Given the description of an element on the screen output the (x, y) to click on. 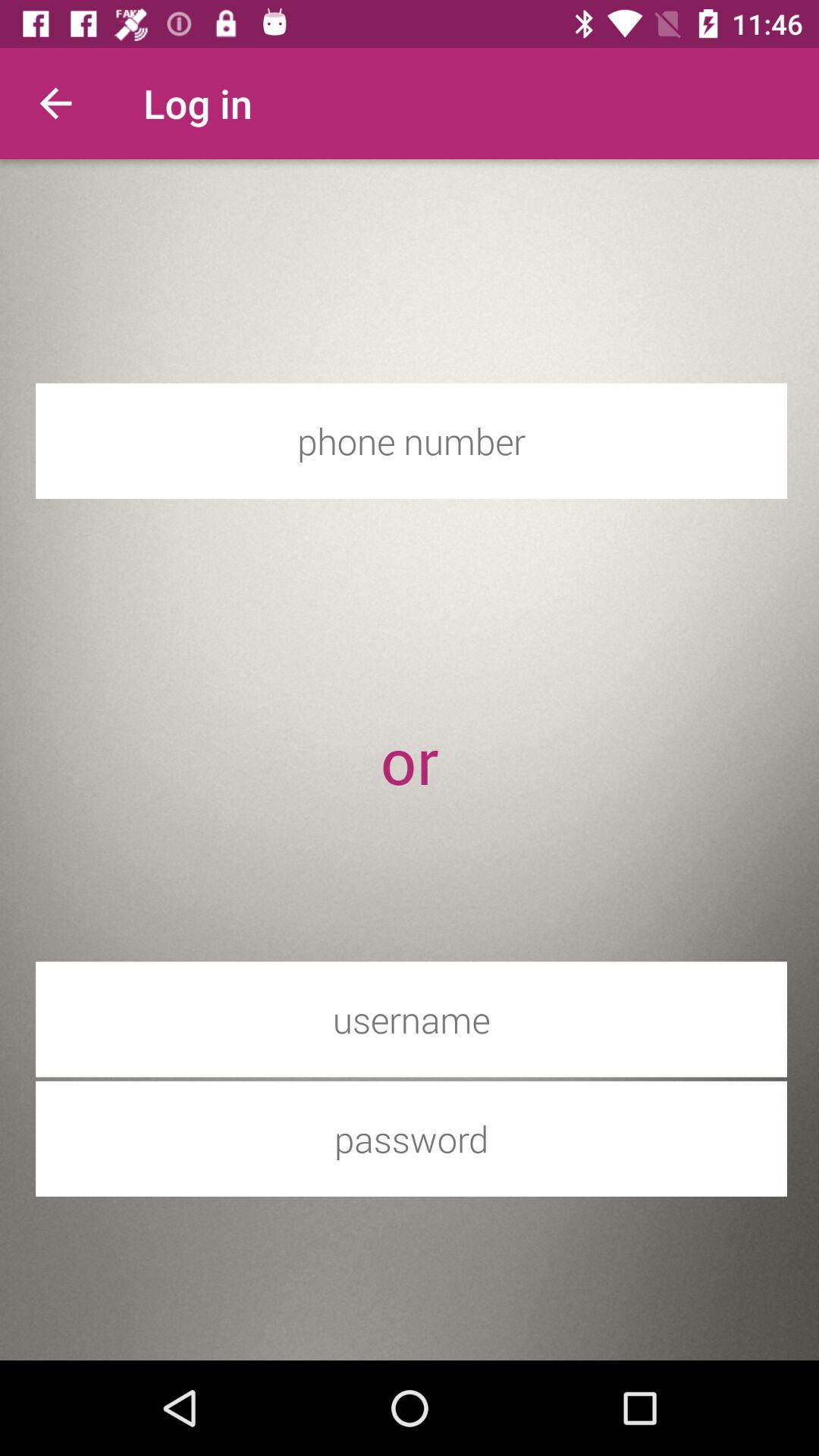
enter username (411, 1019)
